Given the description of an element on the screen output the (x, y) to click on. 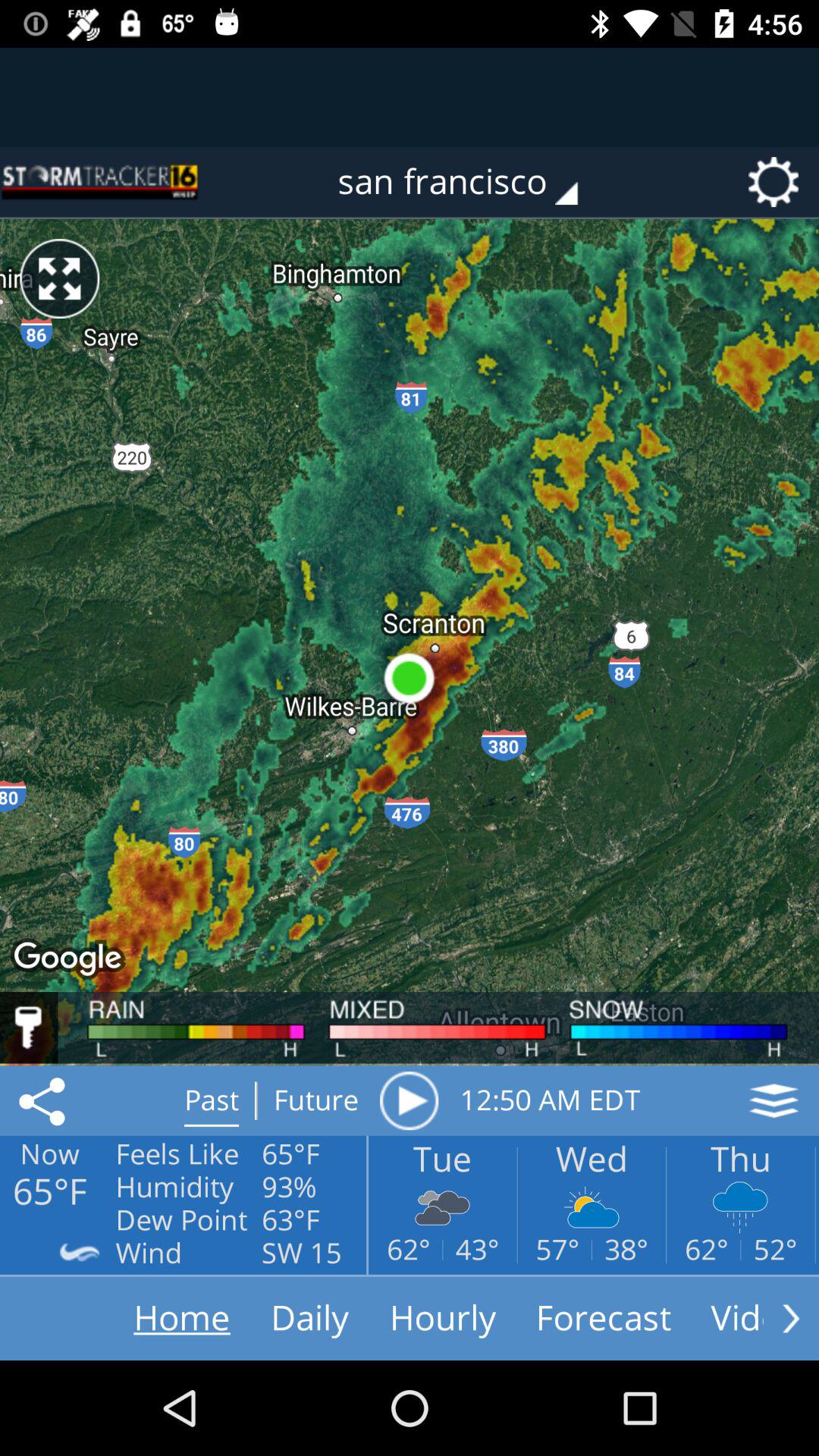
unlock (29, 1027)
